Given the description of an element on the screen output the (x, y) to click on. 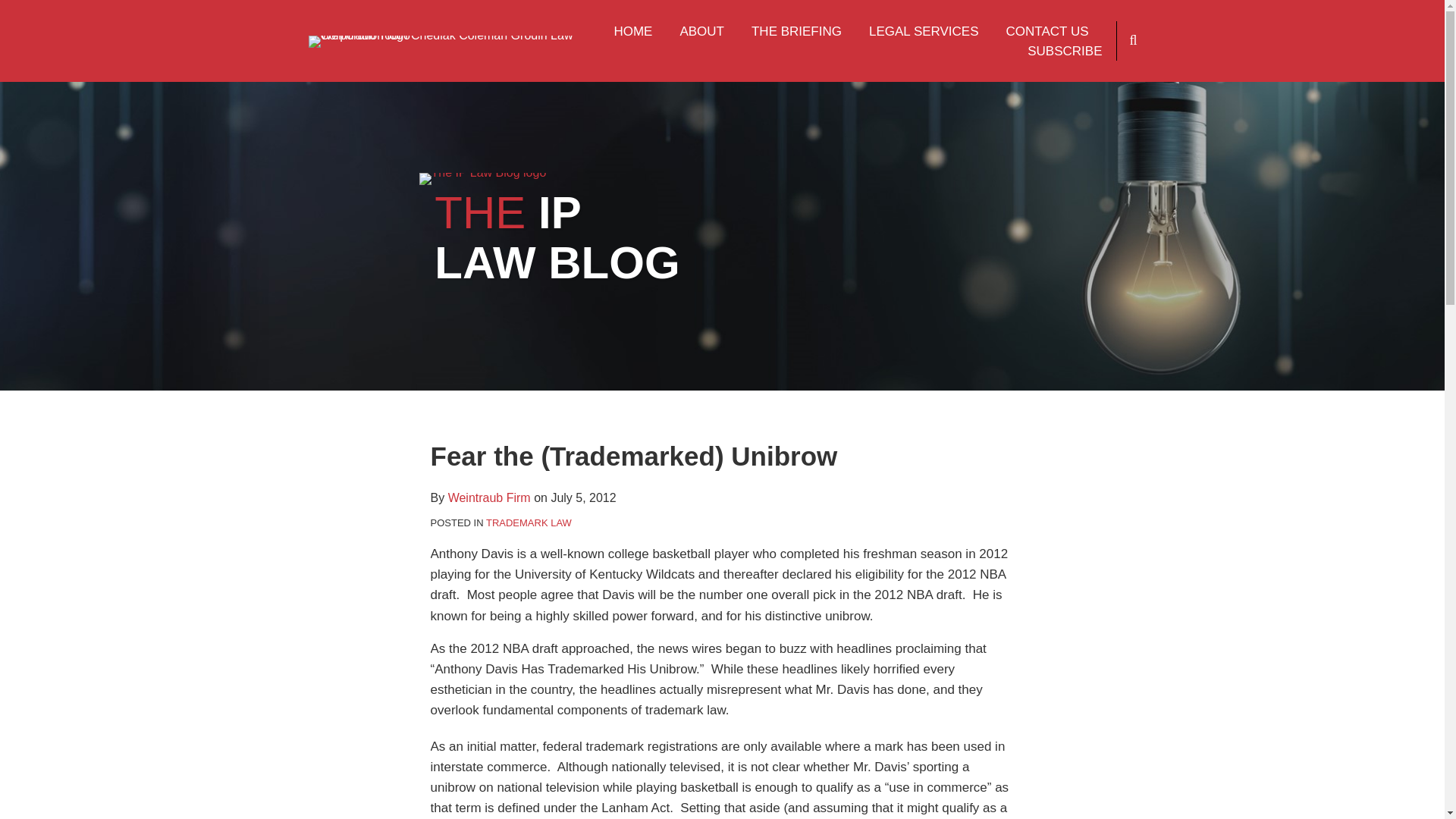
ABOUT (701, 31)
SUBSCRIBE (1064, 51)
Weintraub Firm (489, 497)
THE IP LAW BLOG (556, 237)
TRADEMARK LAW (529, 522)
CONTACT US (1047, 31)
LEGAL SERVICES (923, 31)
HOME (632, 31)
THE BRIEFING (796, 31)
